Given the description of an element on the screen output the (x, y) to click on. 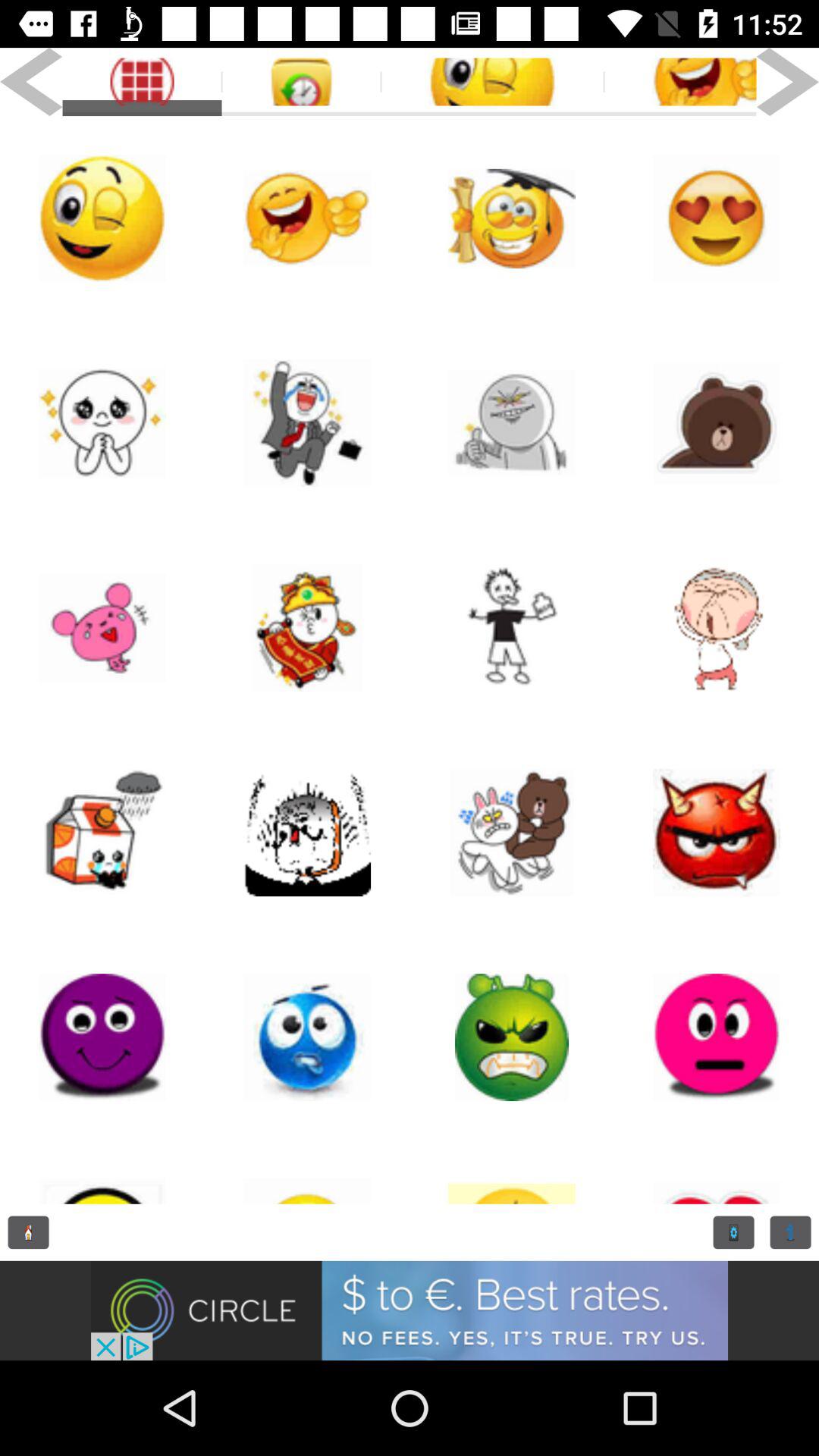
reading option (790, 1232)
